Given the description of an element on the screen output the (x, y) to click on. 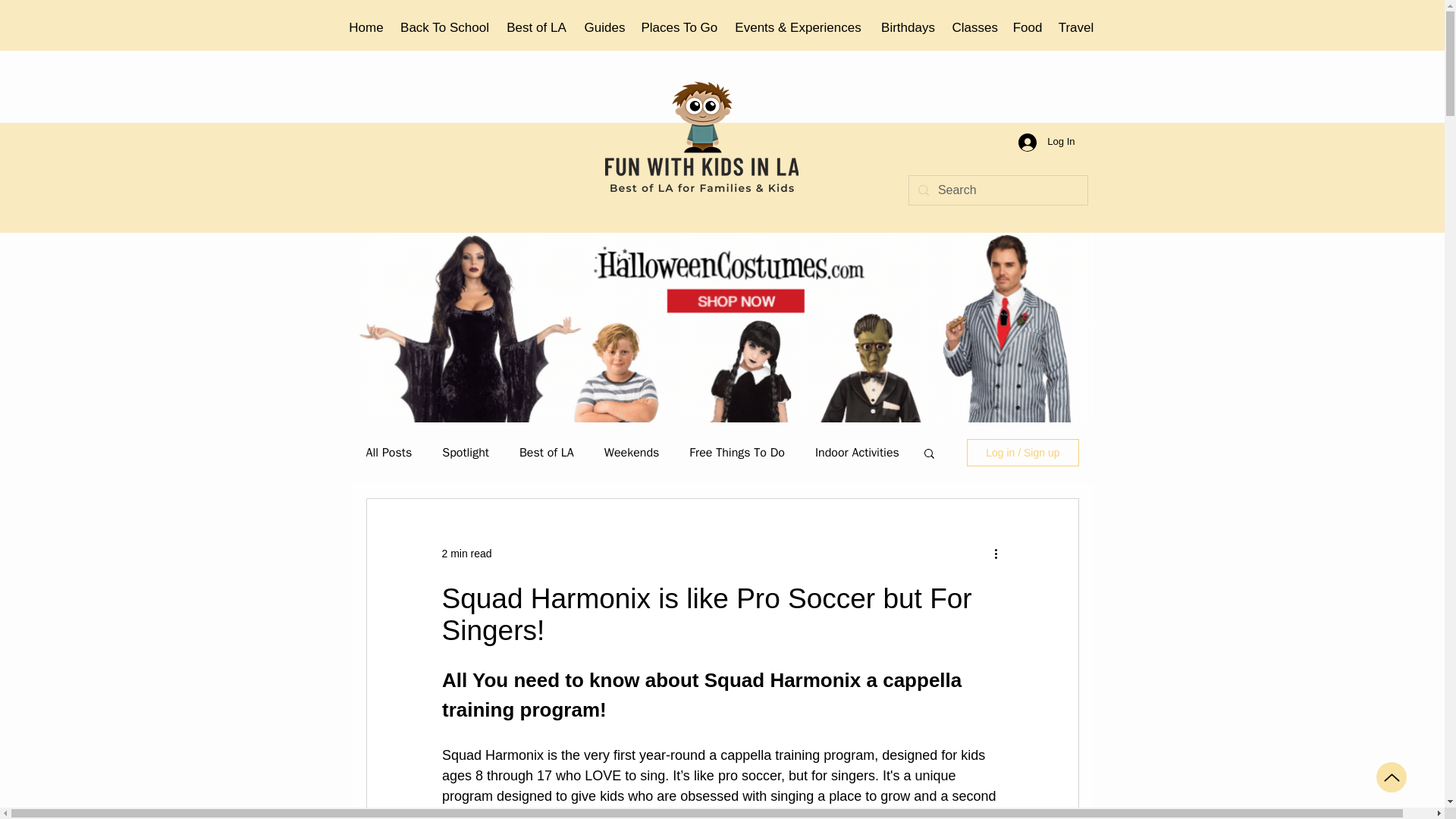
Back To School (445, 27)
2 min read (466, 553)
Home (365, 27)
Best of LA (536, 27)
